Given the description of an element on the screen output the (x, y) to click on. 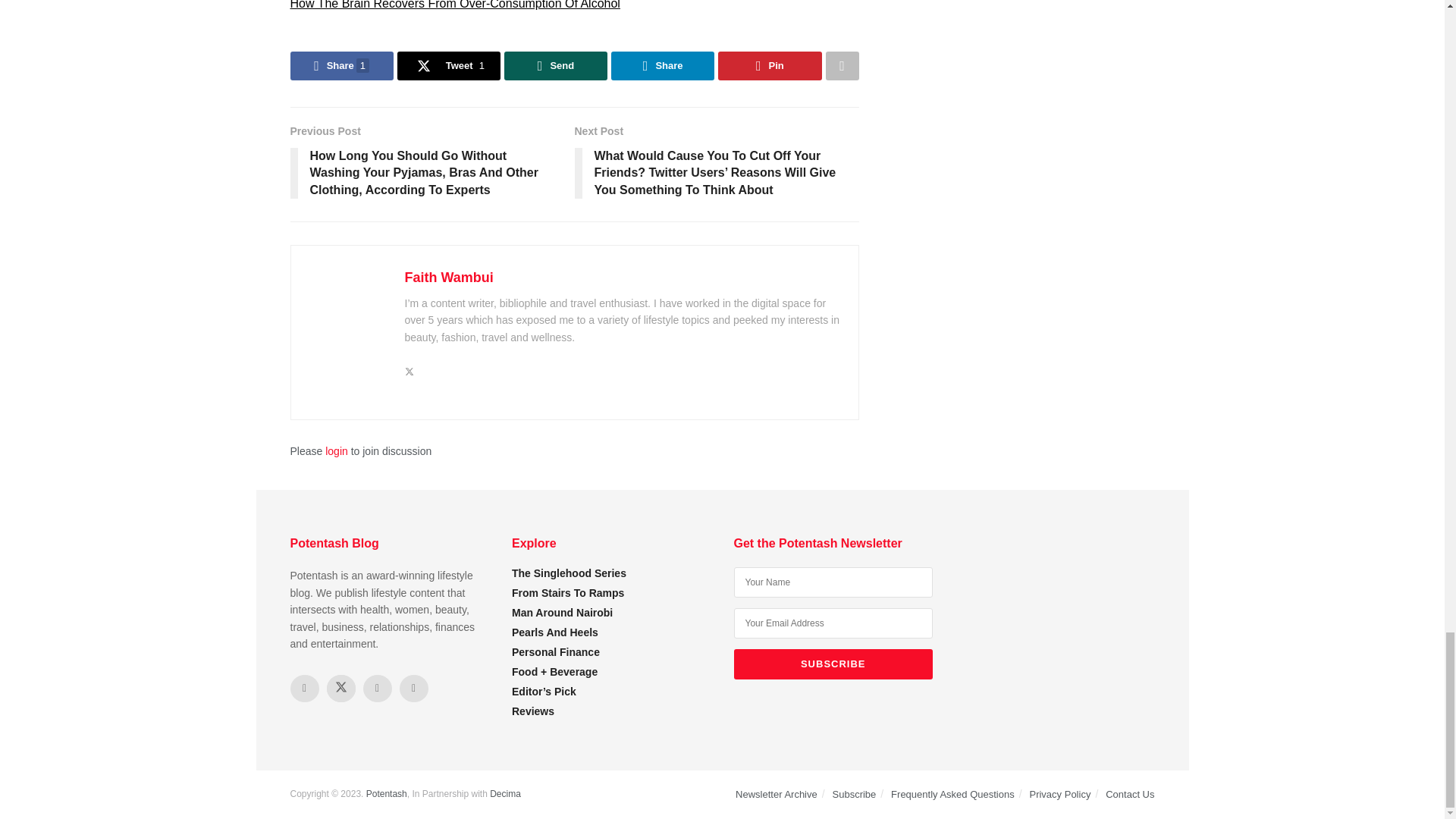
Subscribe (833, 664)
